Given the description of an element on the screen output the (x, y) to click on. 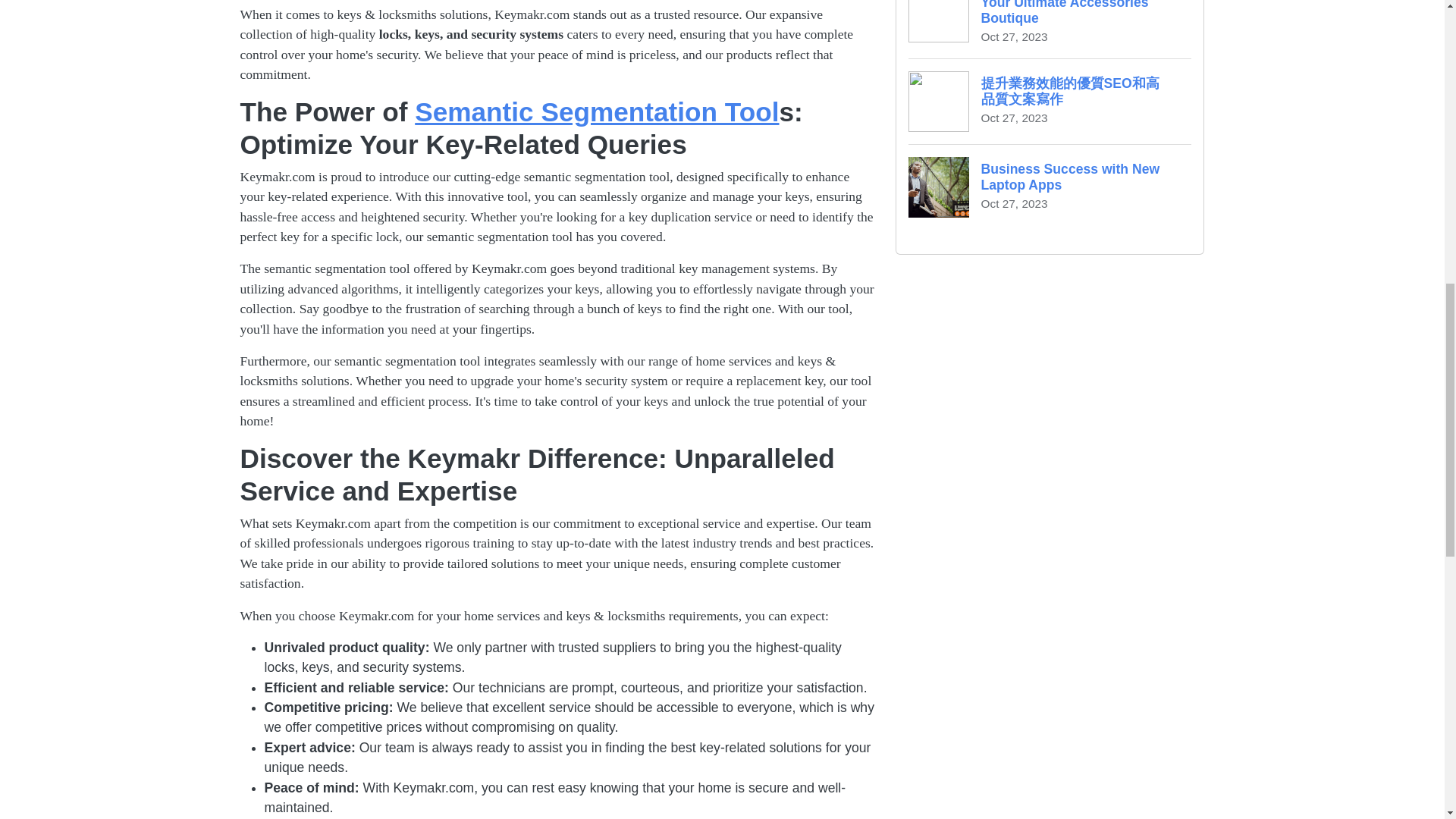
Semantic Segmentation Tool (1050, 187)
